Given the description of an element on the screen output the (x, y) to click on. 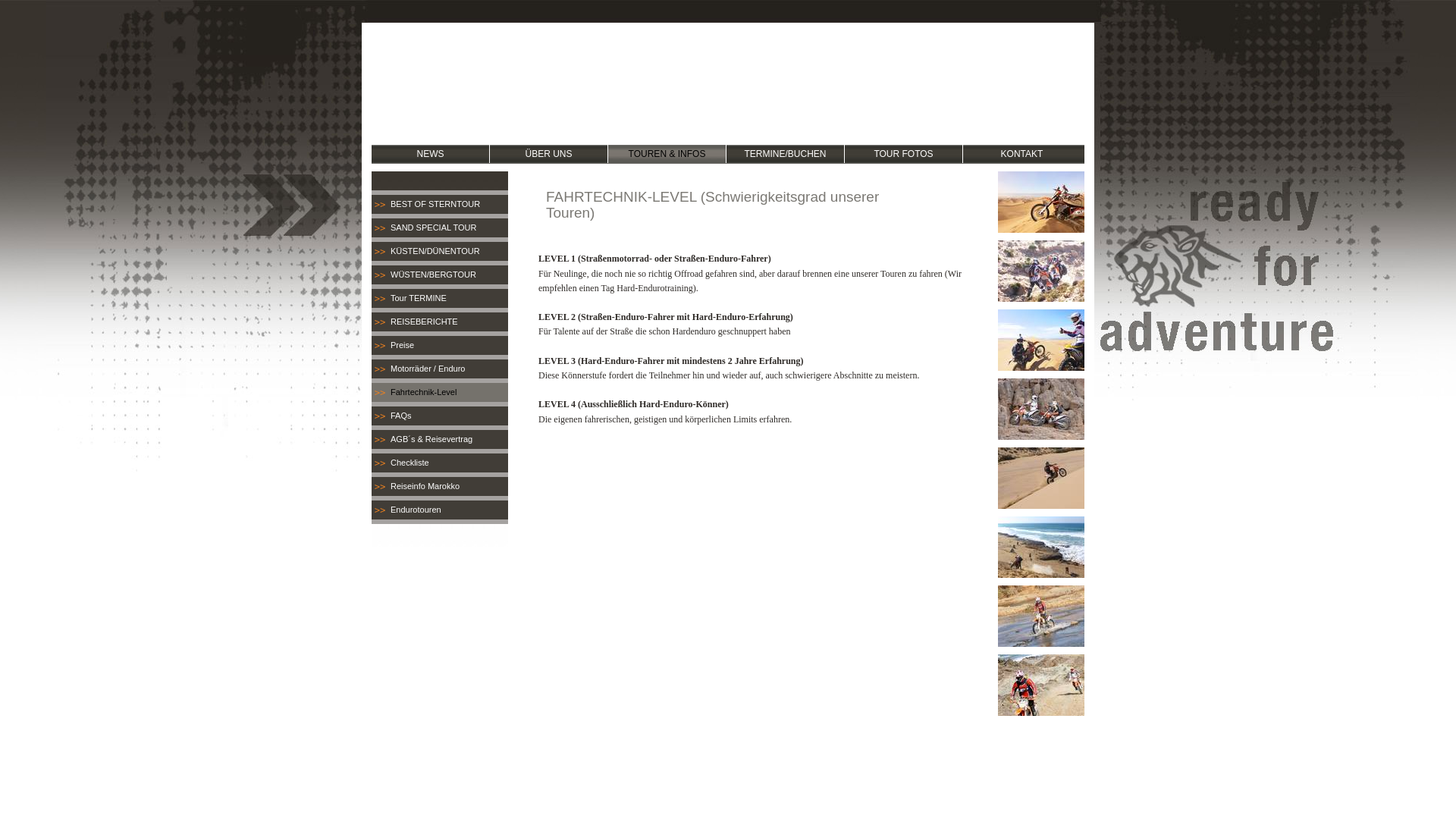
Endurotouren Element type: text (439, 509)
NEWS Element type: text (430, 153)
FAQs Element type: text (439, 415)
Checkliste Element type: text (439, 462)
Fahrtechnik-Level Element type: text (439, 391)
TERMINE/BUCHEN Element type: text (785, 153)
Reiseinfo Marokko Element type: text (439, 485)
REISEBERICHTE Element type: text (439, 321)
KONTAKT Element type: text (1021, 153)
Tour TERMINE Element type: text (439, 297)
TOUREN & INFOS Element type: text (666, 153)
SAND SPECIAL TOUR Element type: text (439, 227)
BEST OF STERNTOUR Element type: text (439, 203)
Preise Element type: text (439, 344)
TOUR FOTOS Element type: text (903, 153)
